Given the description of an element on the screen output the (x, y) to click on. 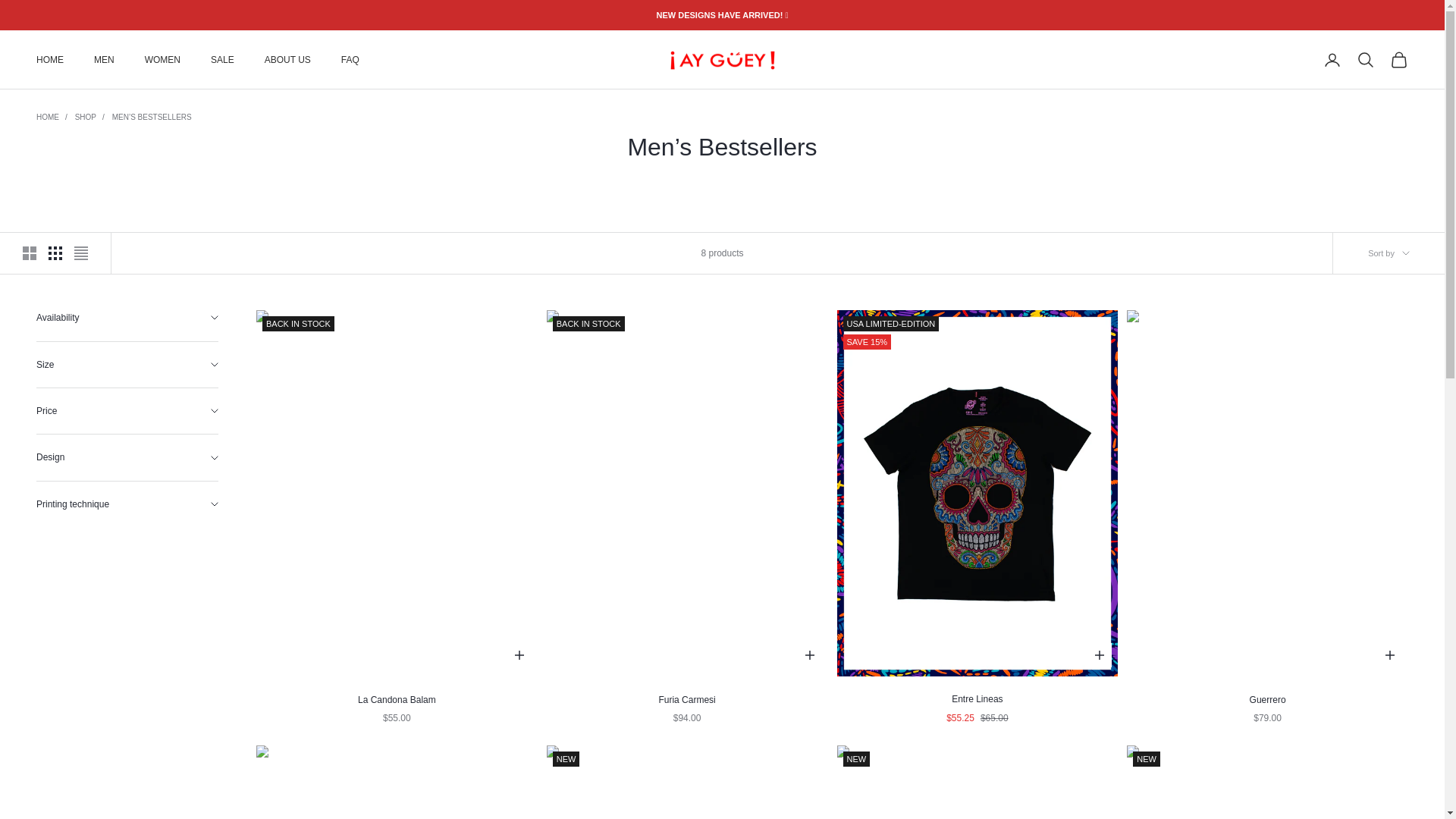
ABOUT US (287, 59)
Open account page (1331, 59)
FAQ (349, 59)
Open cart (1398, 59)
HOME (50, 59)
Open search (1365, 59)
